Given the description of an element on the screen output the (x, y) to click on. 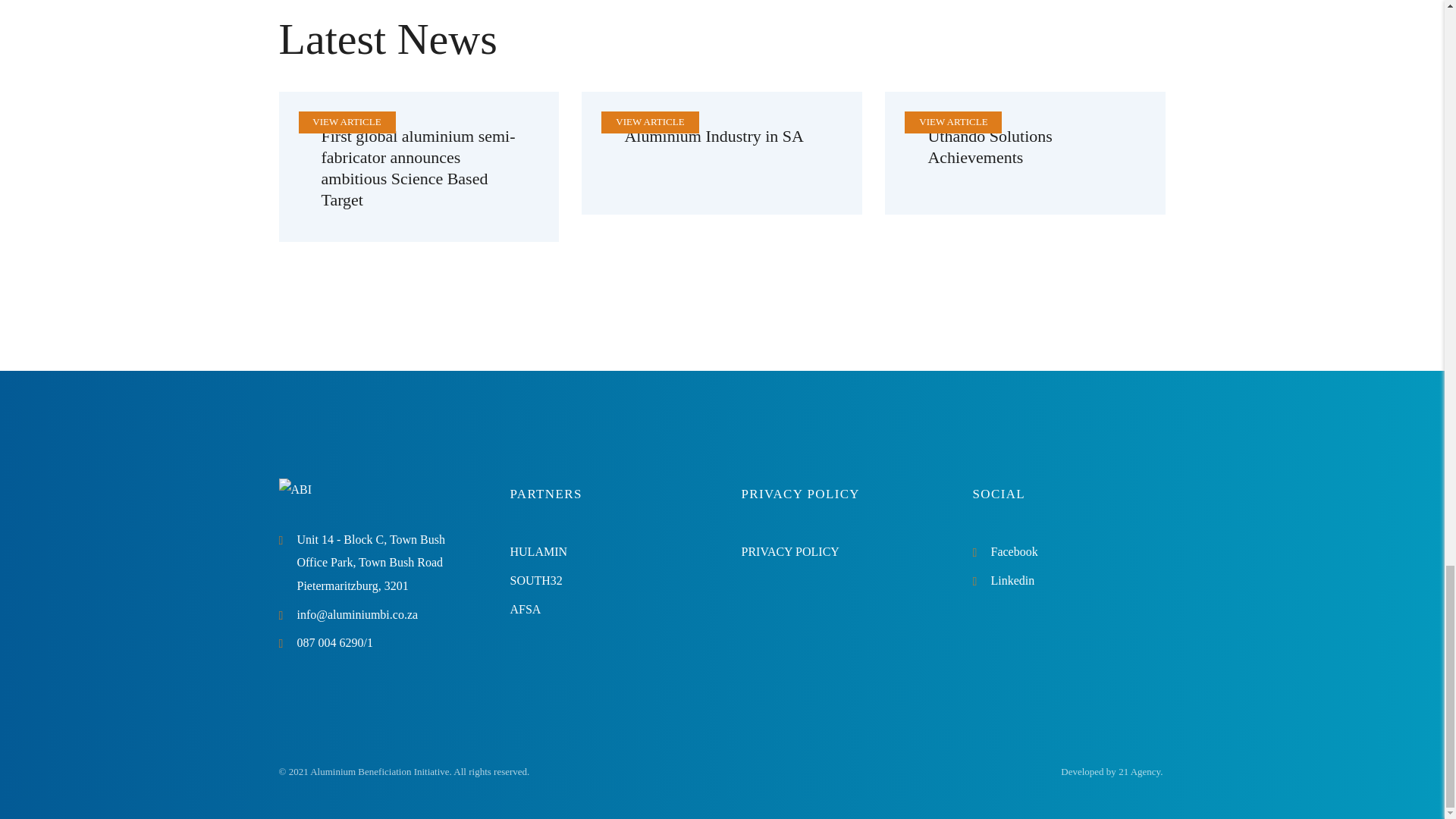
SOUTH32 (535, 580)
VIEW ARTICLE (346, 121)
VIEW ARTICLE (952, 121)
AFSA (524, 608)
PRIVACY POLICY (790, 551)
HULAMIN (538, 551)
VIEW ARTICLE (649, 121)
